Given the description of an element on the screen output the (x, y) to click on. 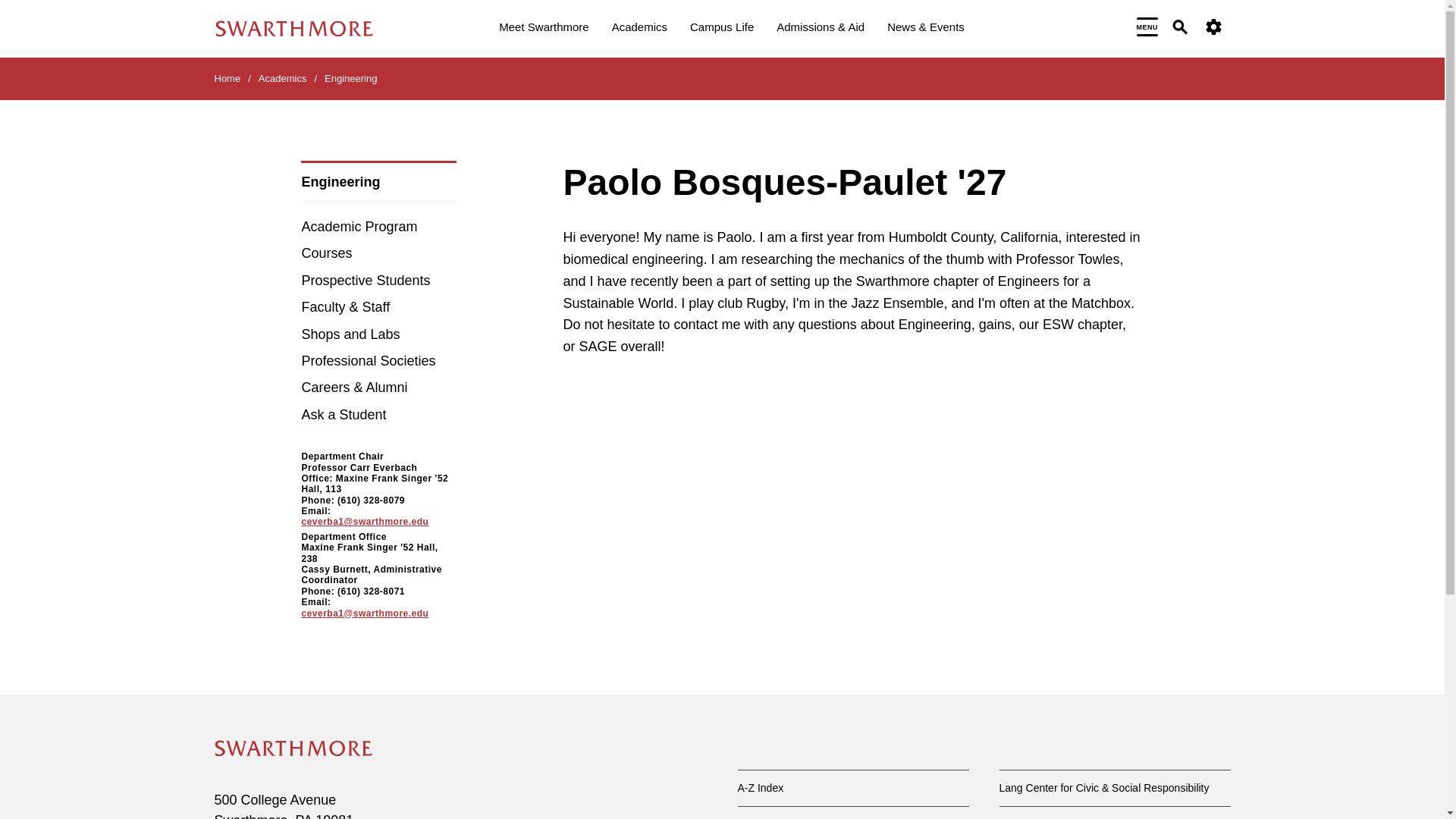
Swarthmore College - Home (292, 748)
Meet Swarthmore (543, 28)
Academics (638, 28)
Campus Life (722, 28)
